Given the description of an element on the screen output the (x, y) to click on. 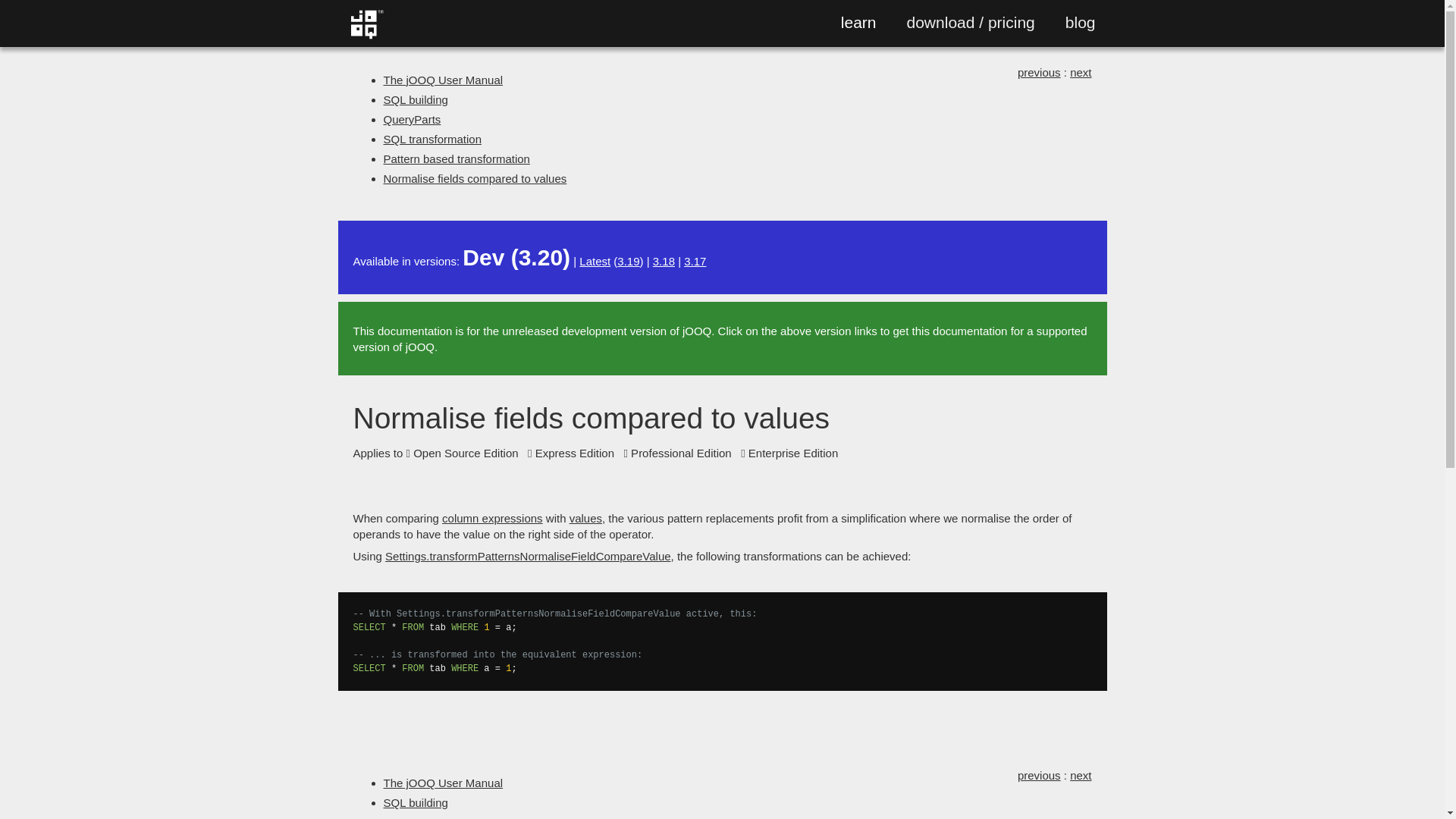
previous (1039, 72)
SQL building (416, 802)
Pattern based transformation (456, 158)
To Home Page (365, 36)
learn (858, 22)
jOOQ Manual reference: Column expressions (492, 517)
SQL transformation (432, 138)
QueryParts (412, 119)
Previous section: Normalise associative operations (1039, 72)
jOOQ Manual reference: Bind values and parameters (585, 517)
Latest (594, 260)
blog (1080, 22)
QueryParts (412, 817)
